Given the description of an element on the screen output the (x, y) to click on. 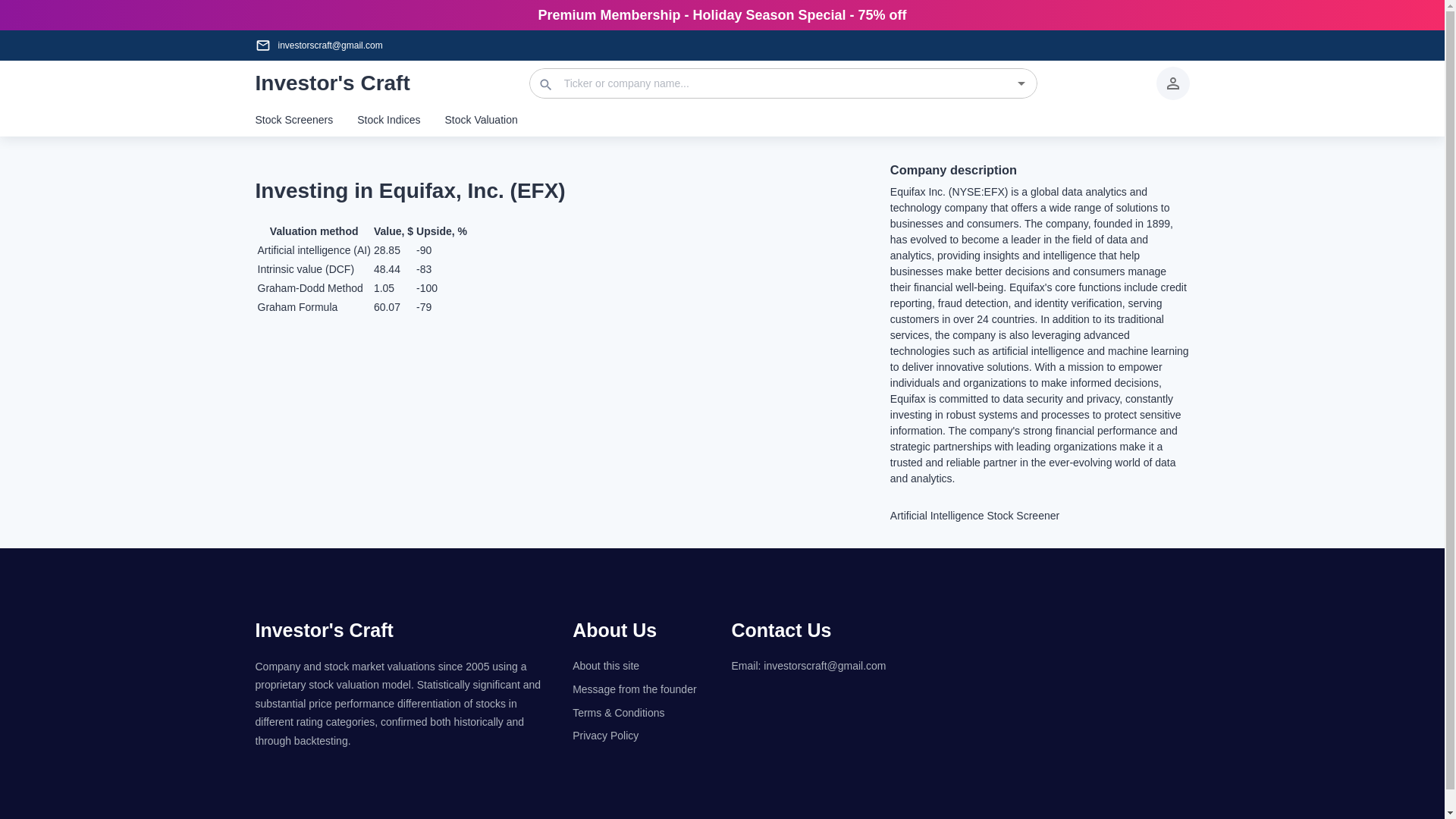
Artificial Intelligence Stock Screener (1039, 515)
Investor's Craft (331, 83)
Investor's Craft (323, 629)
Open (1021, 83)
